Given the description of an element on the screen output the (x, y) to click on. 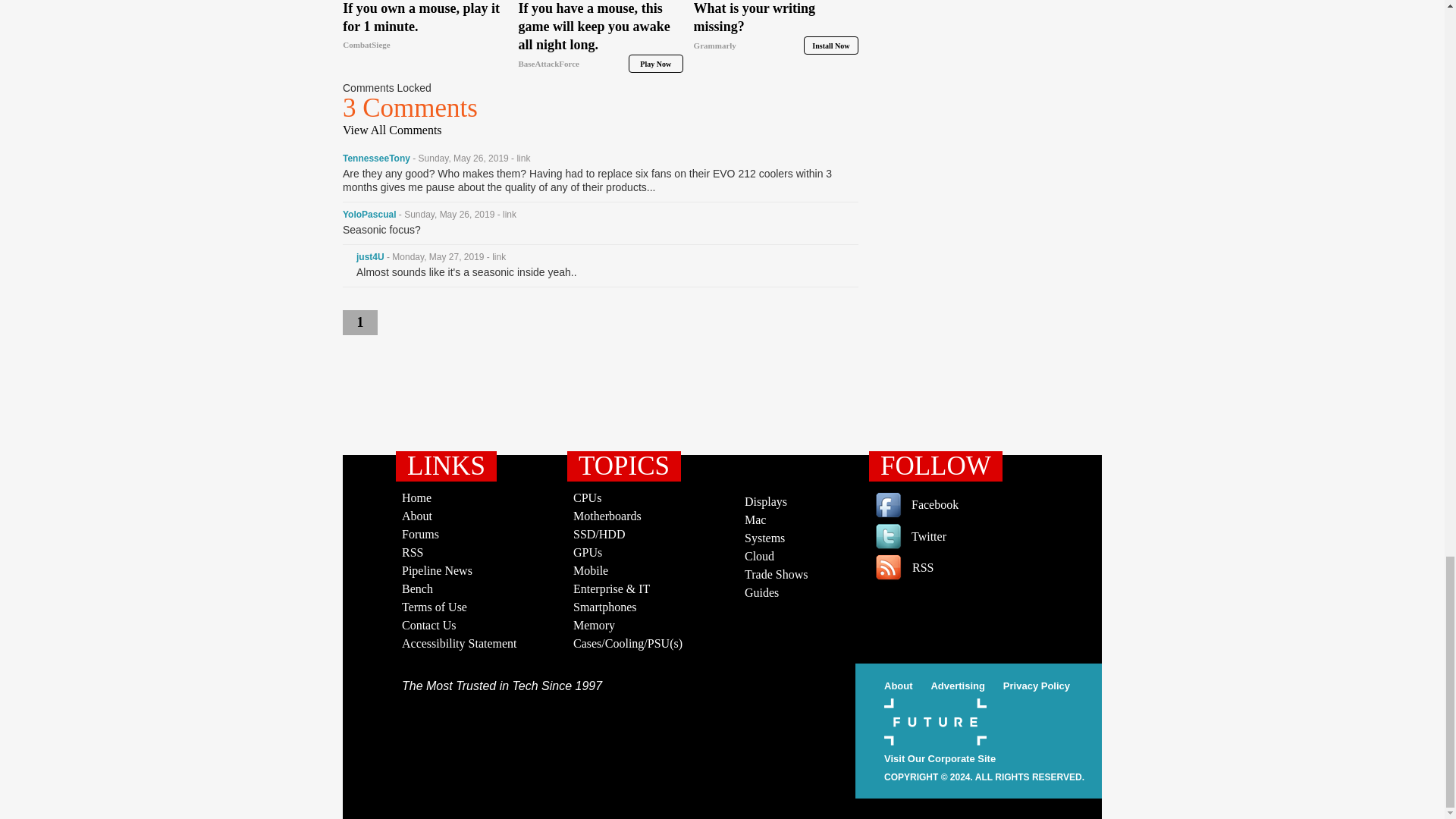
What is your writing missing? (776, 27)
If you own a mouse, play it for 1 minute. (424, 27)
